Given the description of an element on the screen output the (x, y) to click on. 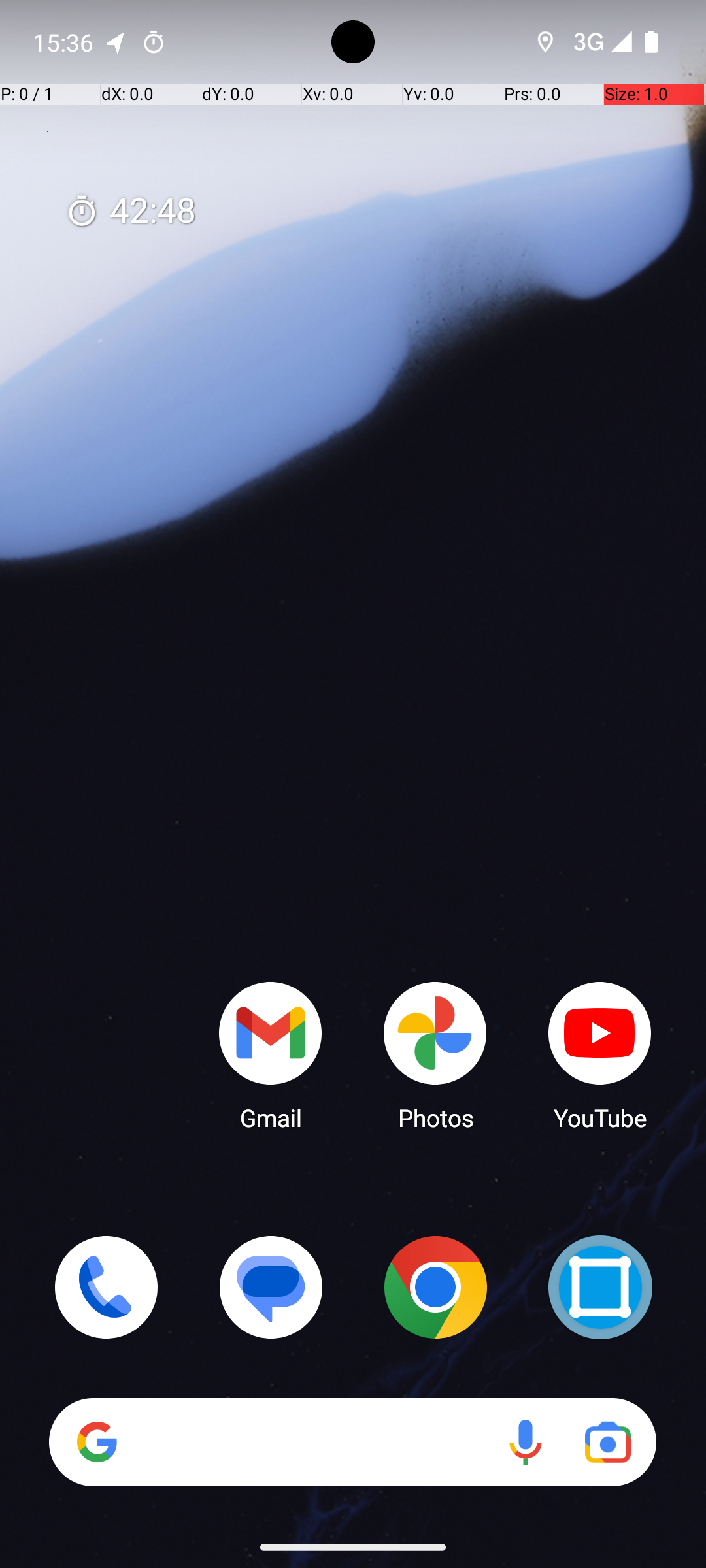
42:49 Element type: android.widget.TextView (130, 210)
